Given the description of an element on the screen output the (x, y) to click on. 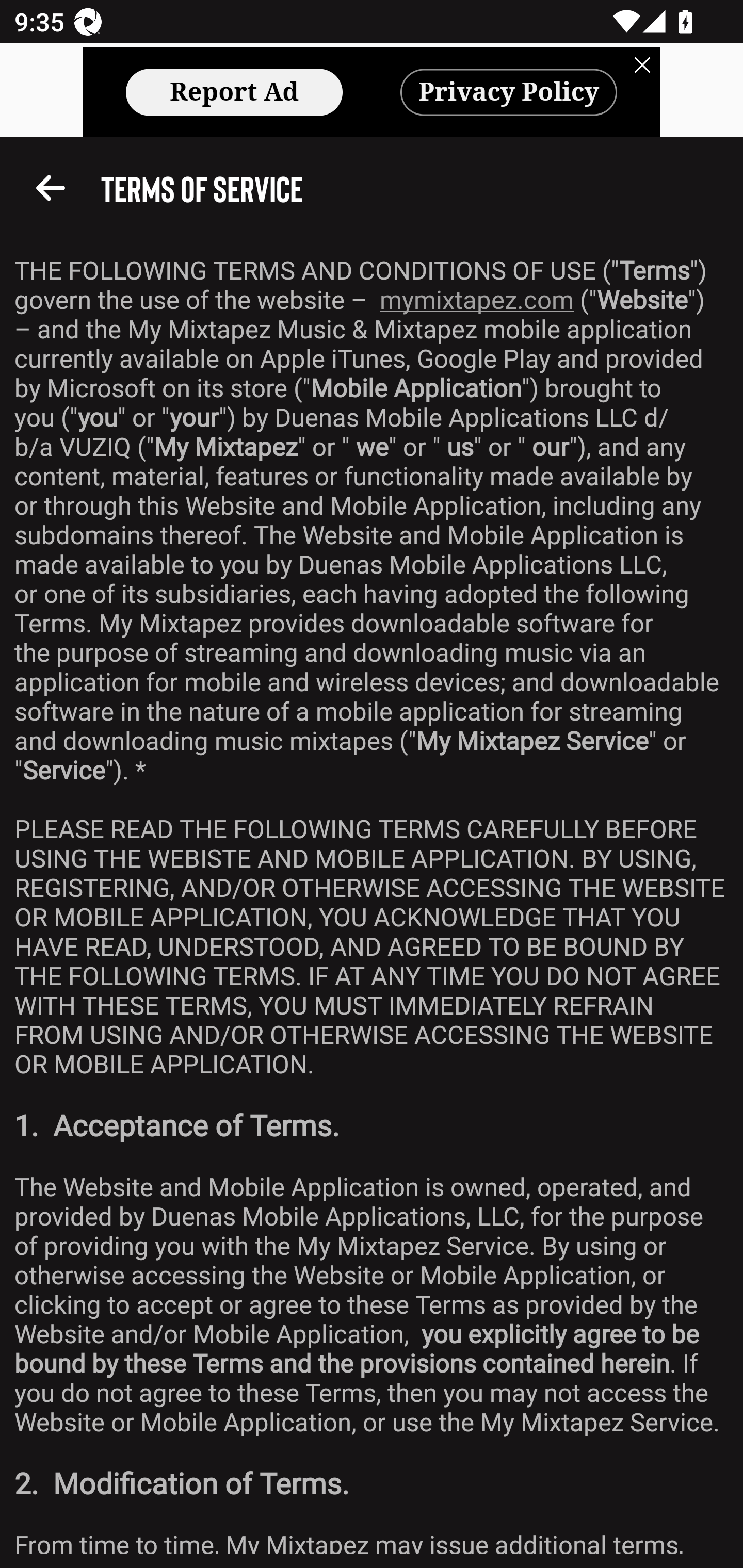
Report Ad (233, 92)
Privacy Policy (508, 92)
